Given the description of an element on the screen output the (x, y) to click on. 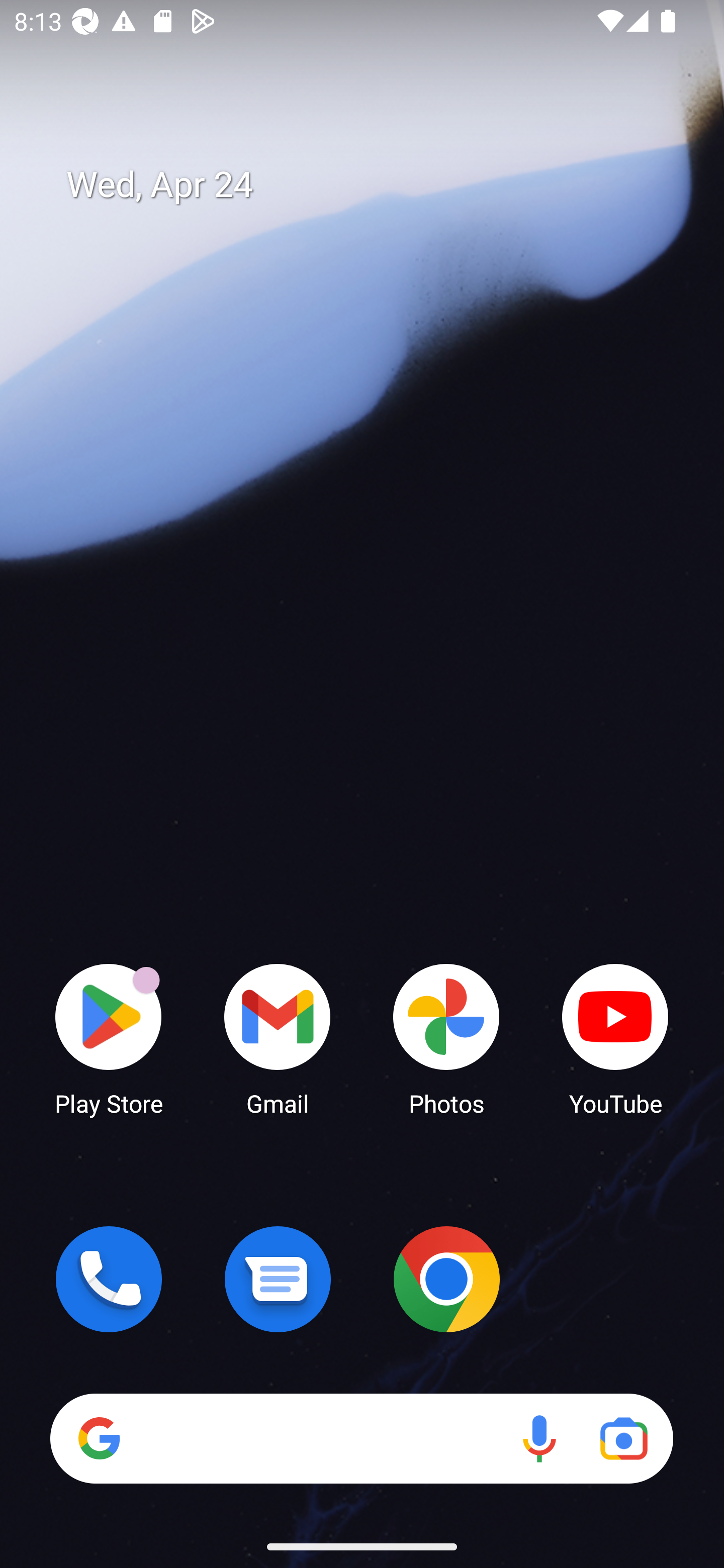
Wed, Apr 24 (375, 184)
Play Store Play Store has 1 notification (108, 1038)
Gmail (277, 1038)
Photos (445, 1038)
YouTube (615, 1038)
Phone (108, 1279)
Messages (277, 1279)
Chrome (446, 1279)
Search Voice search Google Lens (361, 1438)
Voice search (539, 1438)
Google Lens (623, 1438)
